Given the description of an element on the screen output the (x, y) to click on. 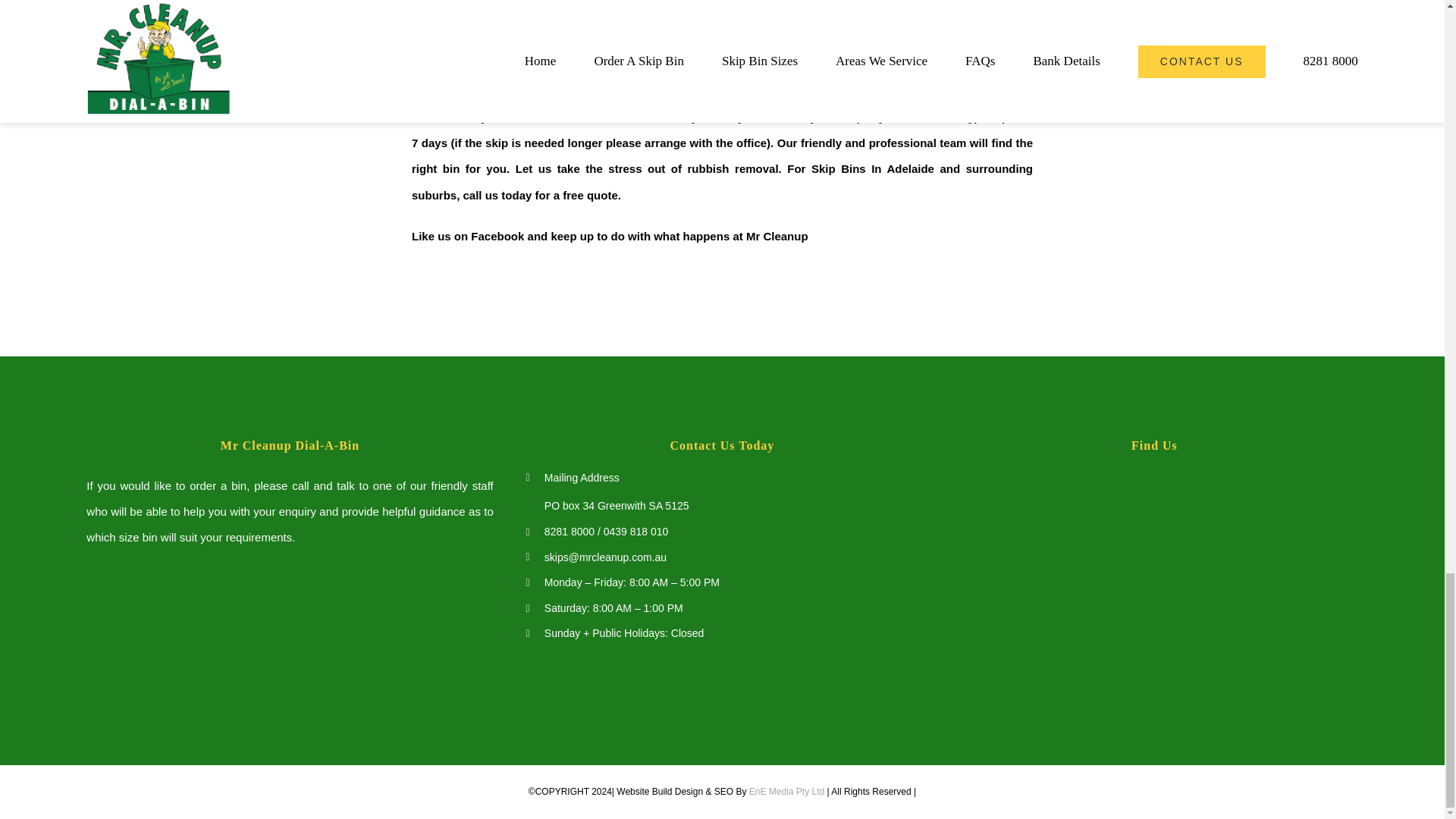
Like us on Facebook (468, 236)
EnE Media Pty Ltd (786, 791)
8281 8000 (569, 531)
0439 818 010 (636, 531)
